Given the description of an element on the screen output the (x, y) to click on. 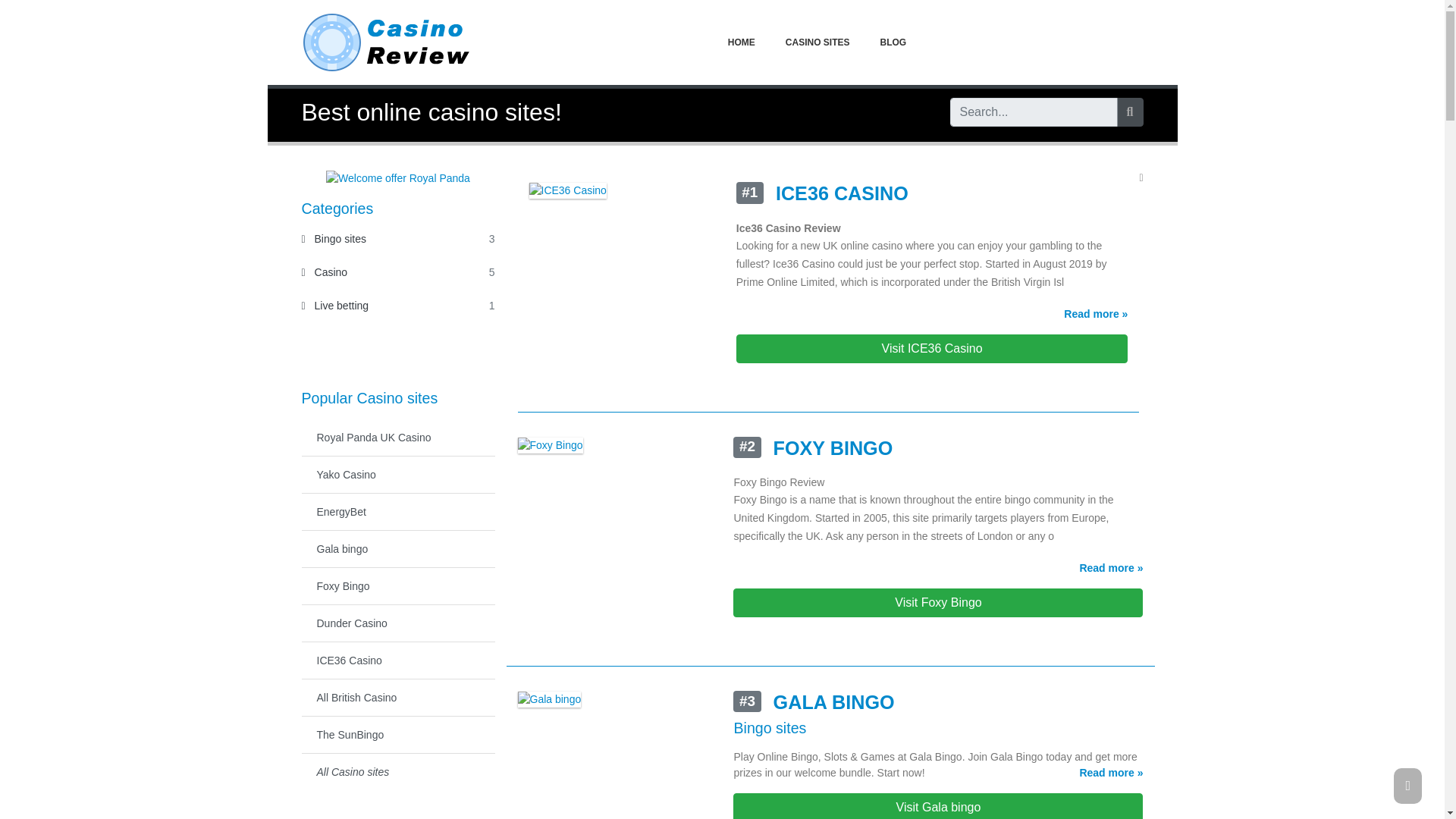
Bingo sites (333, 238)
CASINO SITES (817, 41)
Live betting (335, 305)
Foxy Bingo (398, 586)
All British Casino (335, 305)
The SunBingo (398, 697)
Royal Panda UK Casino (398, 734)
Foxy Bingo (398, 437)
Casino (398, 586)
